Given the description of an element on the screen output the (x, y) to click on. 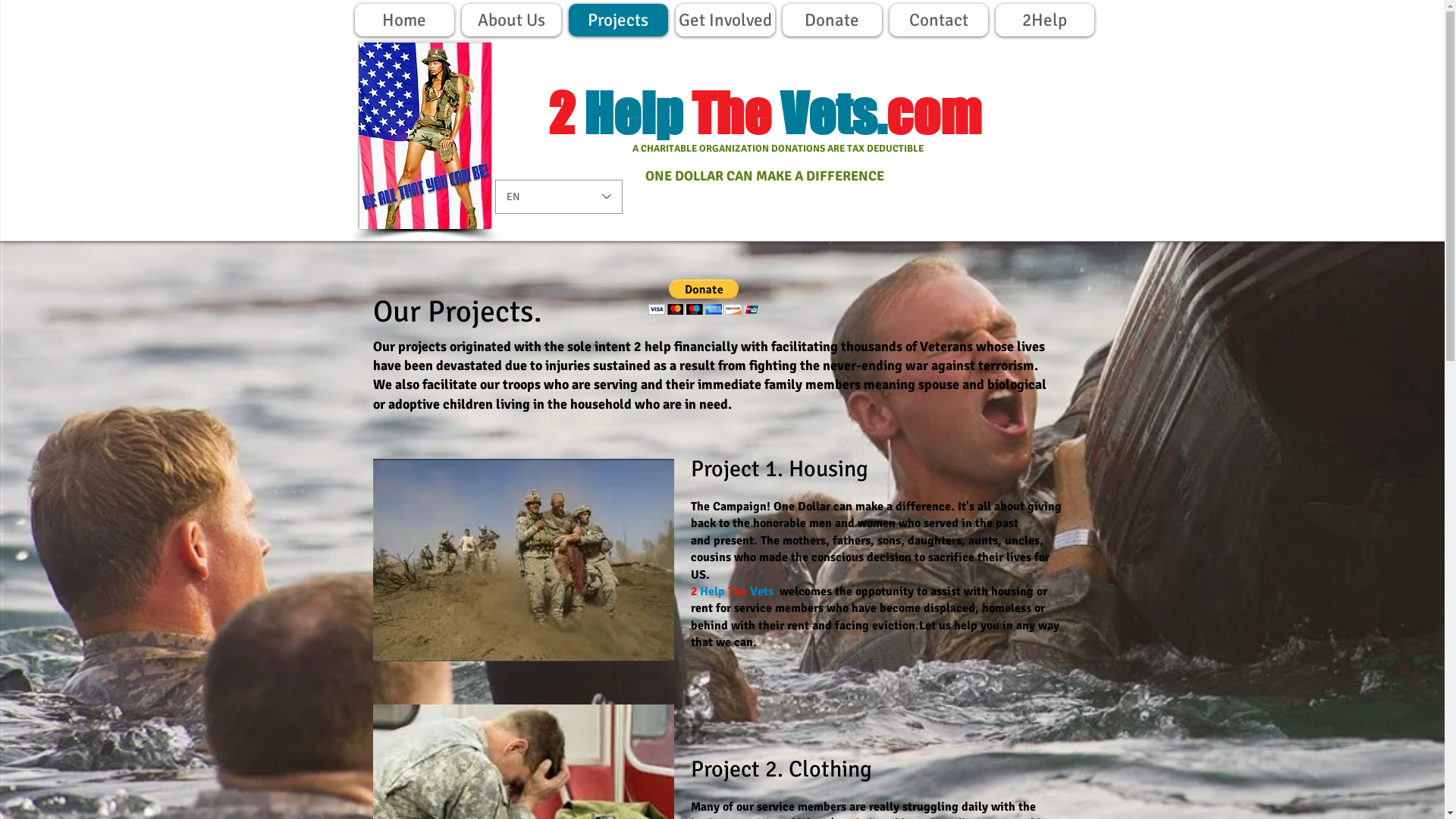
2Help Element type: text (1043, 19)
Contact Element type: text (937, 19)
About Us Element type: text (510, 19)
Donate Element type: text (831, 19)
Home Element type: text (404, 19)
Get Involved Element type: text (724, 19)
Projects Element type: text (618, 19)
